Given the description of an element on the screen output the (x, y) to click on. 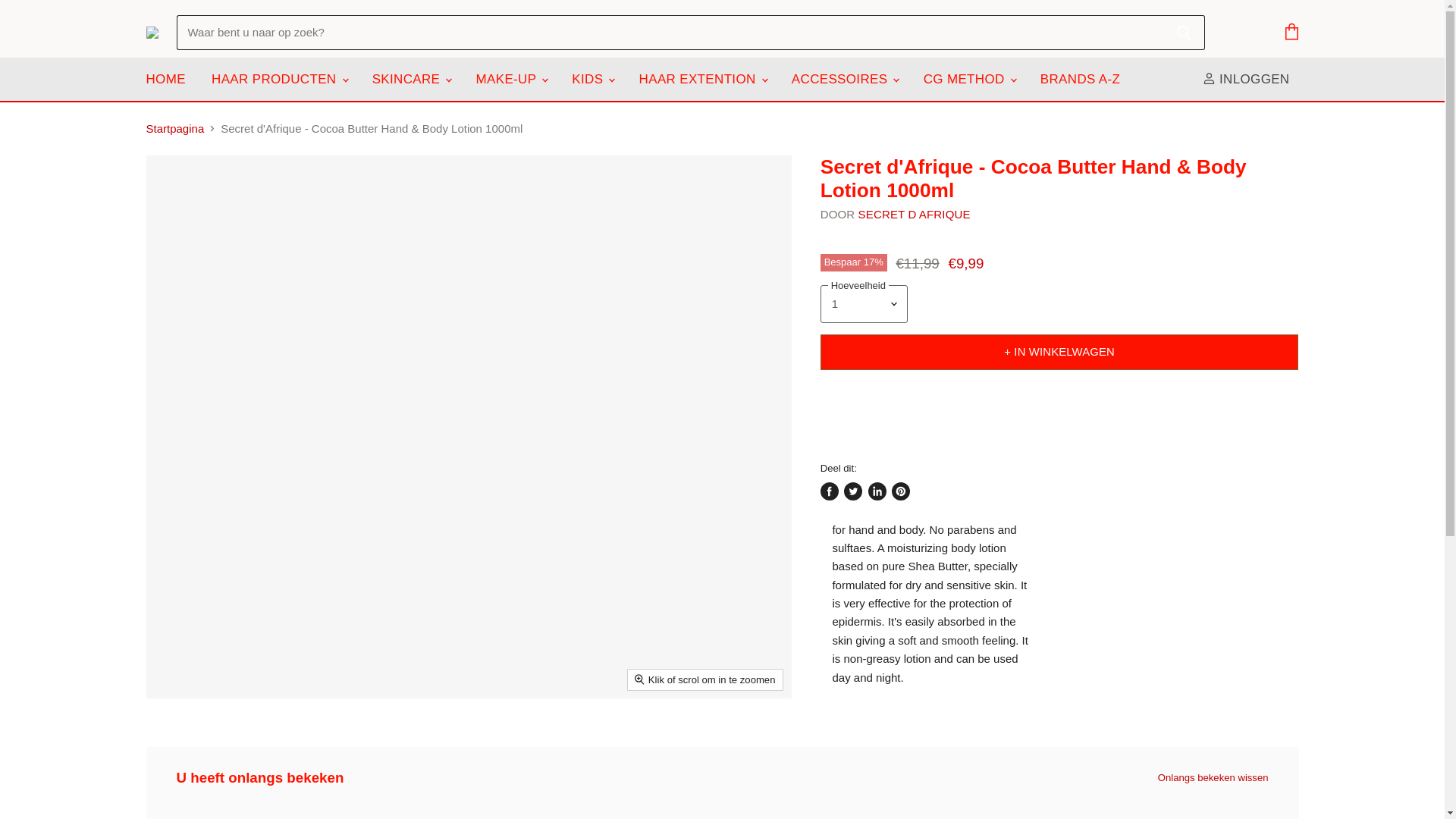
Winkelwagen bekijken (1291, 32)
Secret D Afrique (915, 214)
HAAR PRODUCTEN (278, 79)
HOME (165, 79)
ACCOUNT ICOON (1208, 78)
